Given the description of an element on the screen output the (x, y) to click on. 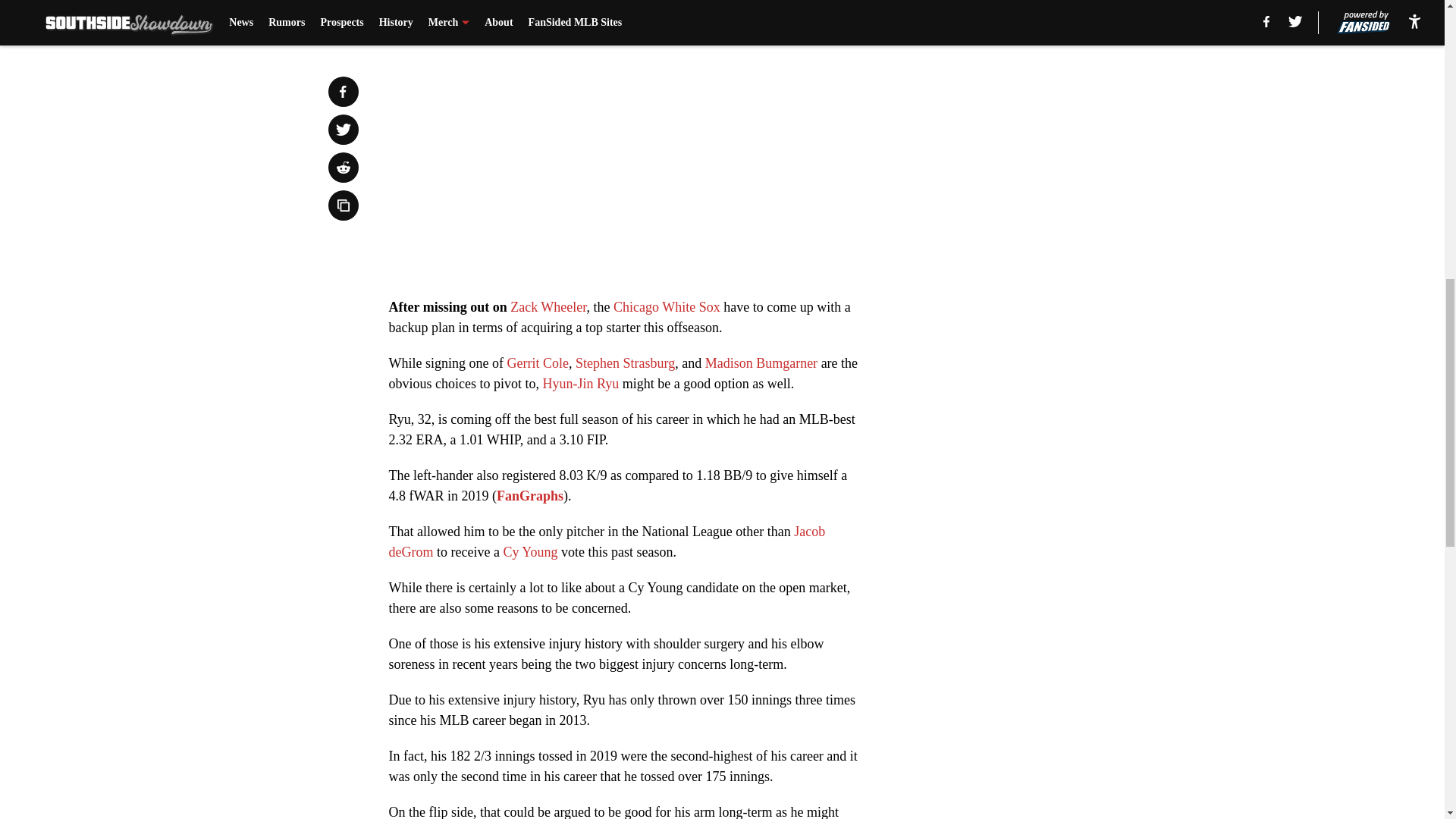
Madison Bumgarner (760, 363)
Stephen Strasburg (625, 363)
Gerrit Cole (536, 363)
FanGraphs (529, 495)
Zack Wheeler (548, 306)
Jacob deGrom (606, 541)
Chicago White Sox (666, 306)
Hyun-Jin Ryu (579, 383)
Cy Young (529, 551)
